Given the description of an element on the screen output the (x, y) to click on. 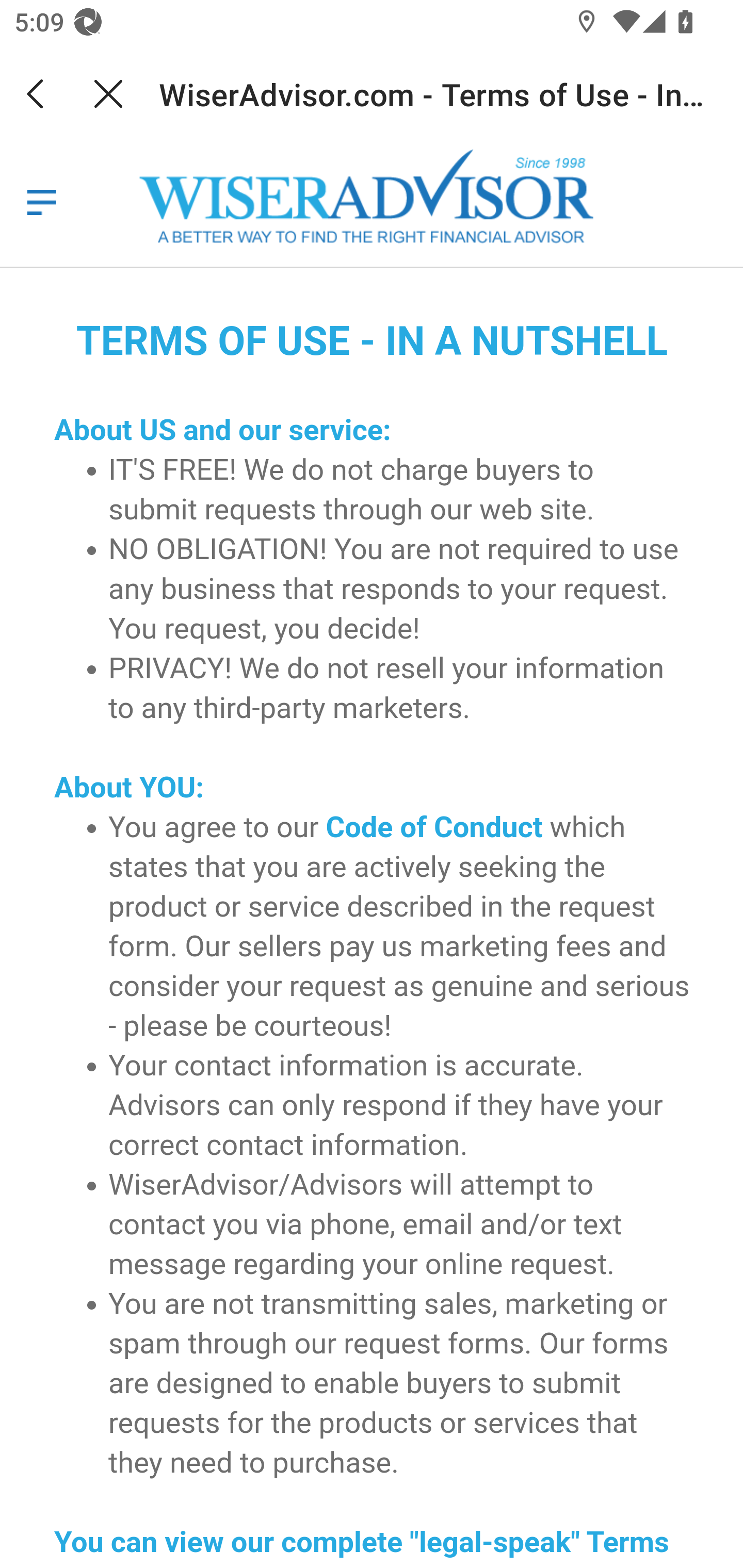
wiseradvisor (374, 198)
wiseradvisor (41, 202)
Code of Conduct (434, 827)
